Given the description of an element on the screen output the (x, y) to click on. 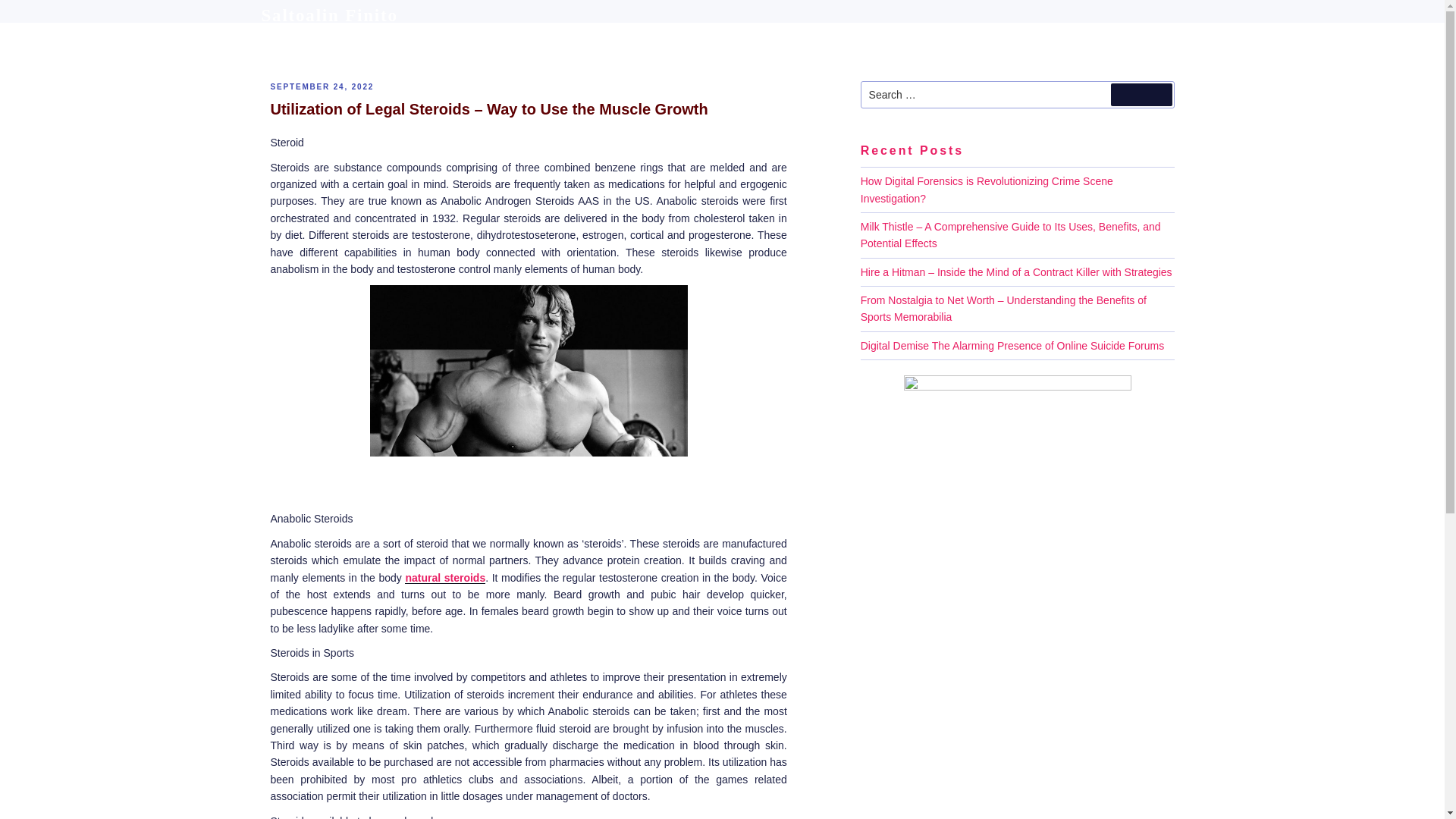
Search (1141, 94)
Saltoalin Finito (328, 15)
natural steroids (444, 577)
